Given the description of an element on the screen output the (x, y) to click on. 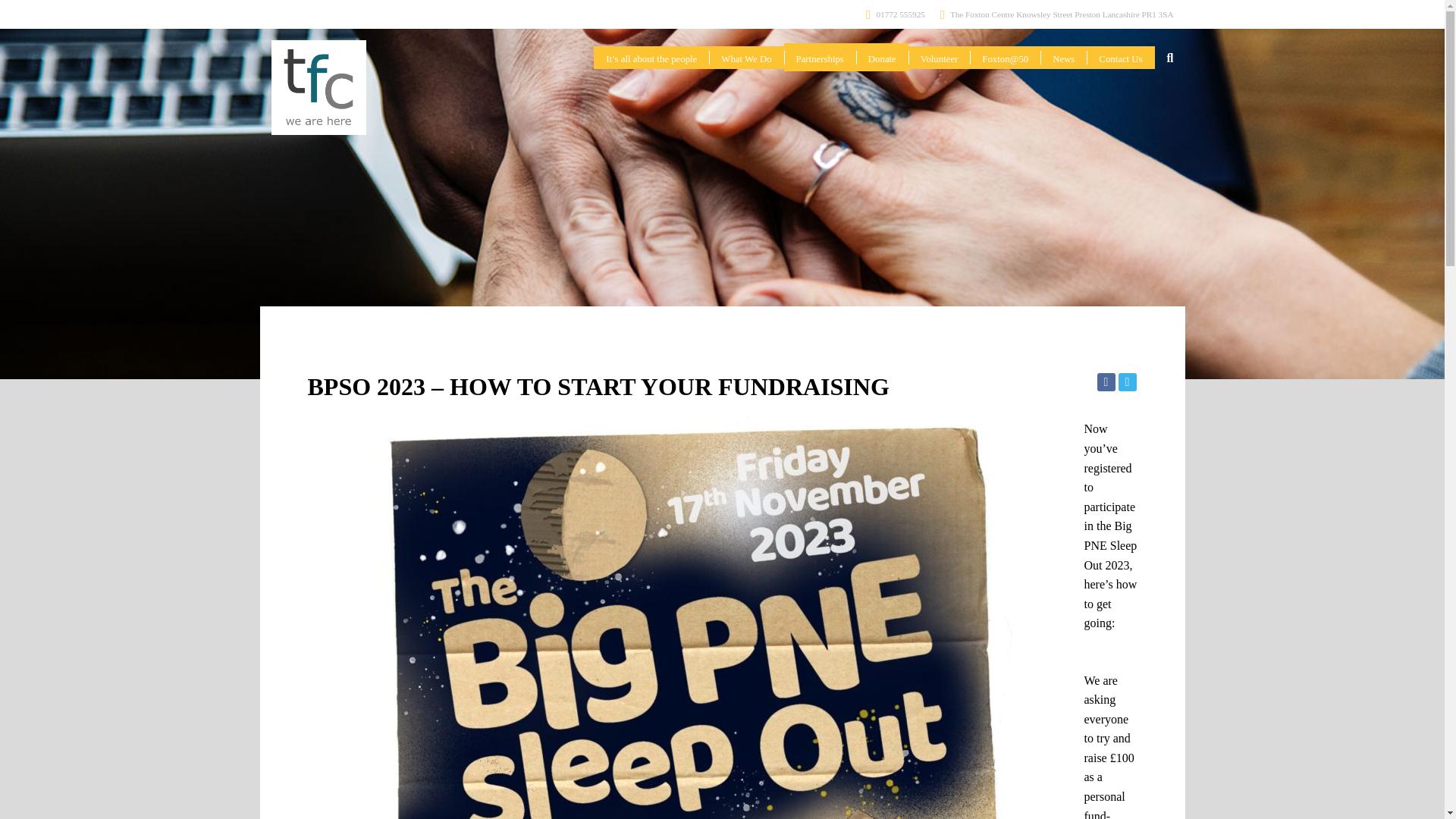
Donate (882, 57)
Volunteer (939, 57)
Call the The Foxton Centre (895, 14)
What We Do (746, 57)
Get directions to The Foxton Centre (1056, 14)
Partnerships (820, 57)
The Foxton Centre (318, 87)
01772 555925 (895, 14)
The Foxton Centre (1056, 14)
